Given the description of an element on the screen output the (x, y) to click on. 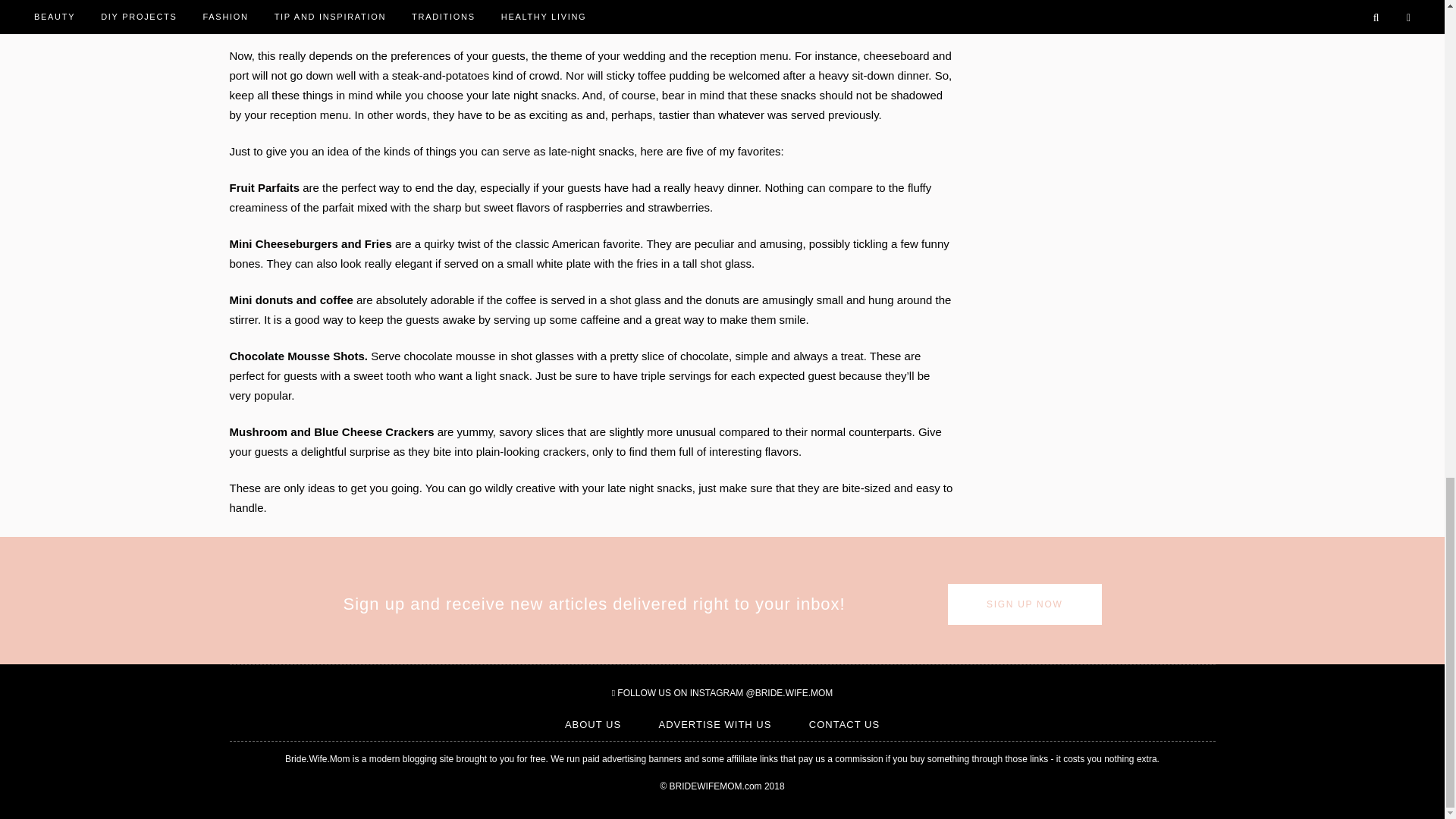
SIGN UP NOW (1024, 603)
ABOUT US (592, 724)
ADVERTISE WITH US (714, 724)
CONTACT US (844, 724)
